Given the description of an element on the screen output the (x, y) to click on. 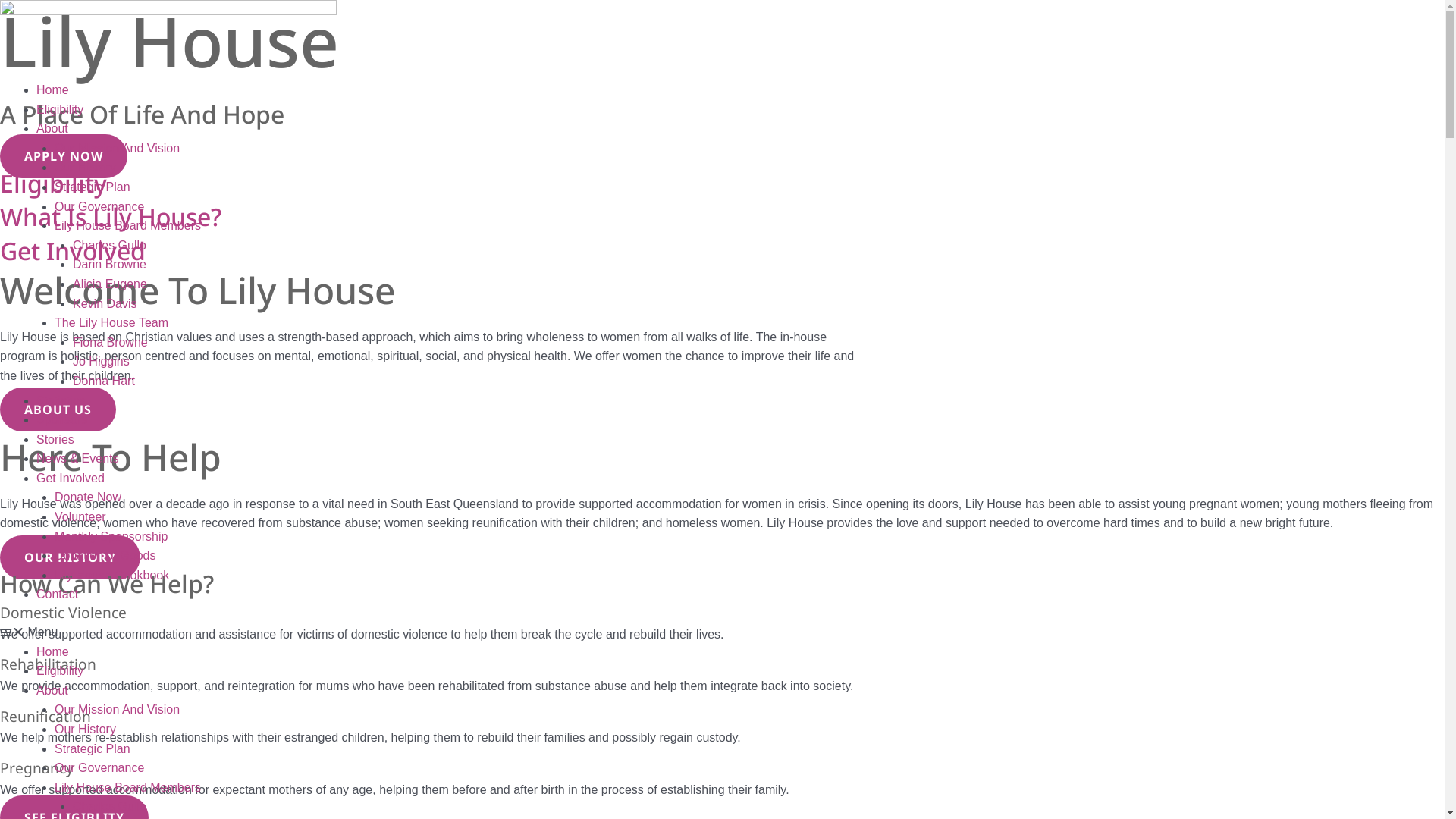
Home Element type: text (52, 651)
Get Involved Element type: text (72, 250)
Volunteer Element type: text (80, 516)
Strategic Plan Element type: text (92, 186)
OUR HISTORY Element type: text (70, 557)
Eligibility Element type: text (53, 182)
Our Governance Element type: text (99, 206)
Get Involved Element type: text (70, 477)
Stories Element type: text (55, 439)
Eligibility Element type: text (59, 670)
Alicia Eugene Element type: text (109, 283)
Our History Element type: text (85, 166)
The Lily House Team Element type: text (111, 322)
Lily House Cookbook Element type: text (111, 574)
APPLY NOW Element type: text (63, 156)
Darin Browne Element type: text (109, 263)
Donation of Goods Element type: text (104, 555)
News & Events Element type: text (77, 457)
Our Mission And Vision Element type: text (116, 147)
Statistics Element type: text (60, 400)
About Element type: text (52, 128)
Lily House Board Members Element type: text (127, 225)
Contact Element type: text (57, 593)
ABOUT US Element type: text (58, 409)
Our History Element type: text (85, 728)
Lily House Board Members Element type: text (127, 787)
Charles Gullo Element type: text (109, 244)
Sponsors Element type: text (61, 419)
Our Governance Element type: text (99, 767)
Our Mission And Vision Element type: text (116, 708)
Home Element type: text (52, 89)
About Element type: text (52, 690)
Monthly Sponsorship Element type: text (110, 536)
What Is Lily House? Element type: text (110, 216)
Donate Now Element type: text (87, 496)
Kevin Davis Element type: text (104, 303)
Donna Hart Element type: text (103, 380)
Fiona Browne Element type: text (109, 341)
Strategic Plan Element type: text (92, 748)
Eligibility Element type: text (59, 109)
Charles Gullo Element type: text (109, 806)
Jo Higgins Element type: text (100, 360)
